Given the description of an element on the screen output the (x, y) to click on. 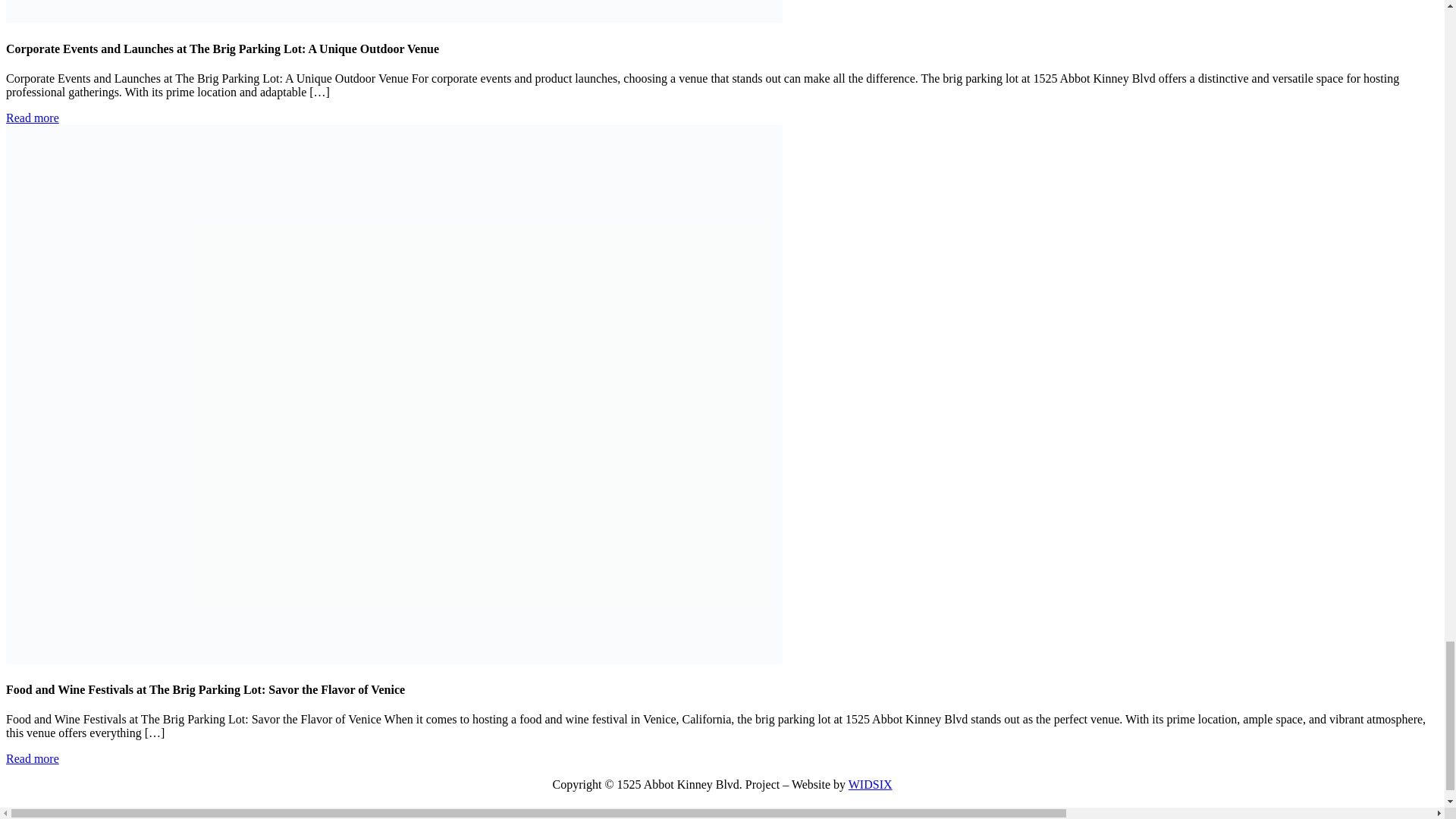
Read more (32, 117)
Read more (32, 758)
Read more (32, 117)
Share (23, 814)
Read more (32, 758)
WIDSIX (870, 784)
Toggle fullscreen (36, 814)
